Given the description of an element on the screen output the (x, y) to click on. 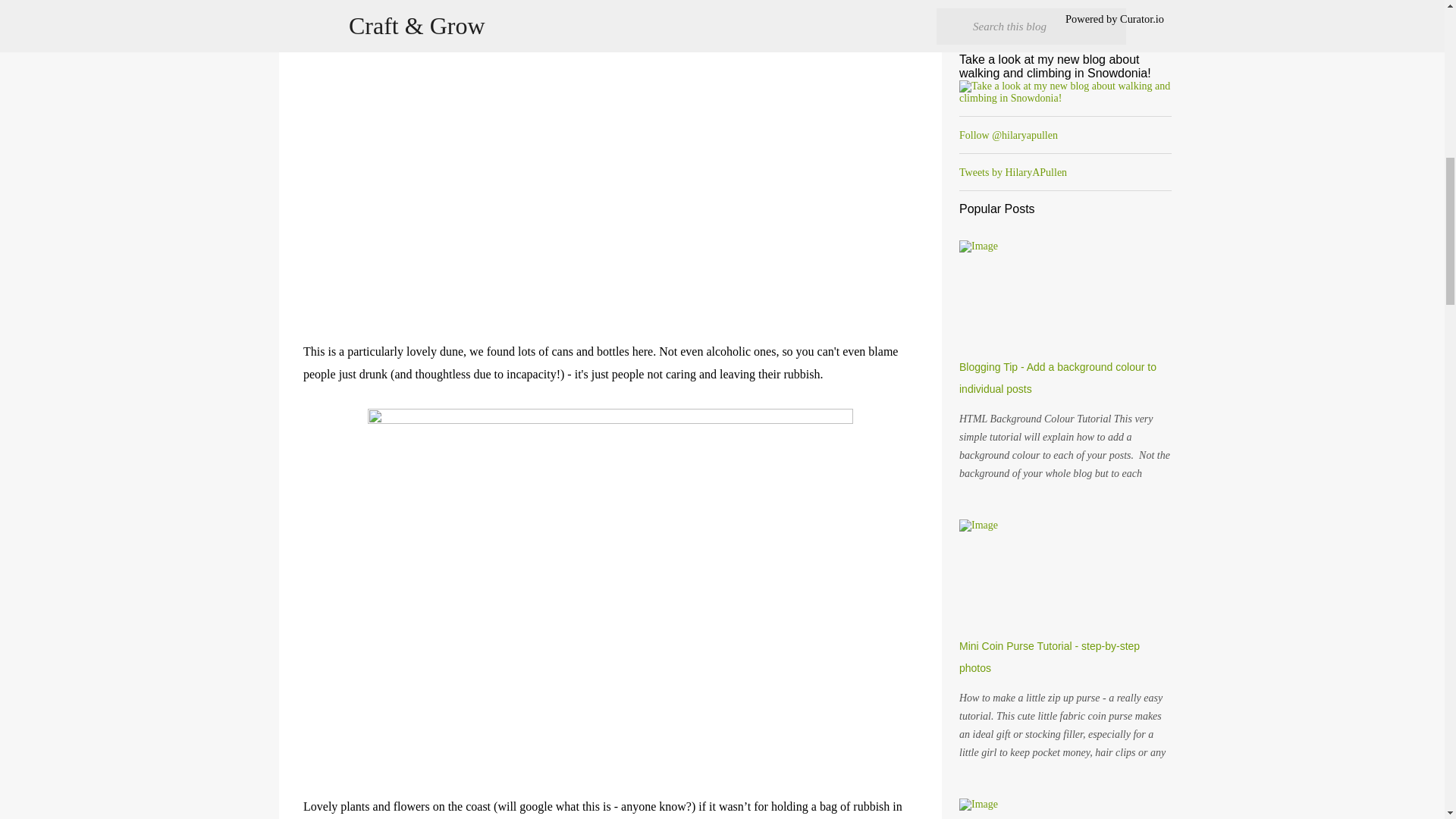
Blogging Tip - Add a background colour to individual posts (1057, 377)
Tweets by HilaryAPullen (1013, 172)
Mini Coin Purse Tutorial - step-by-step photos (1049, 656)
Powered by Curator.io (1114, 19)
